Given the description of an element on the screen output the (x, y) to click on. 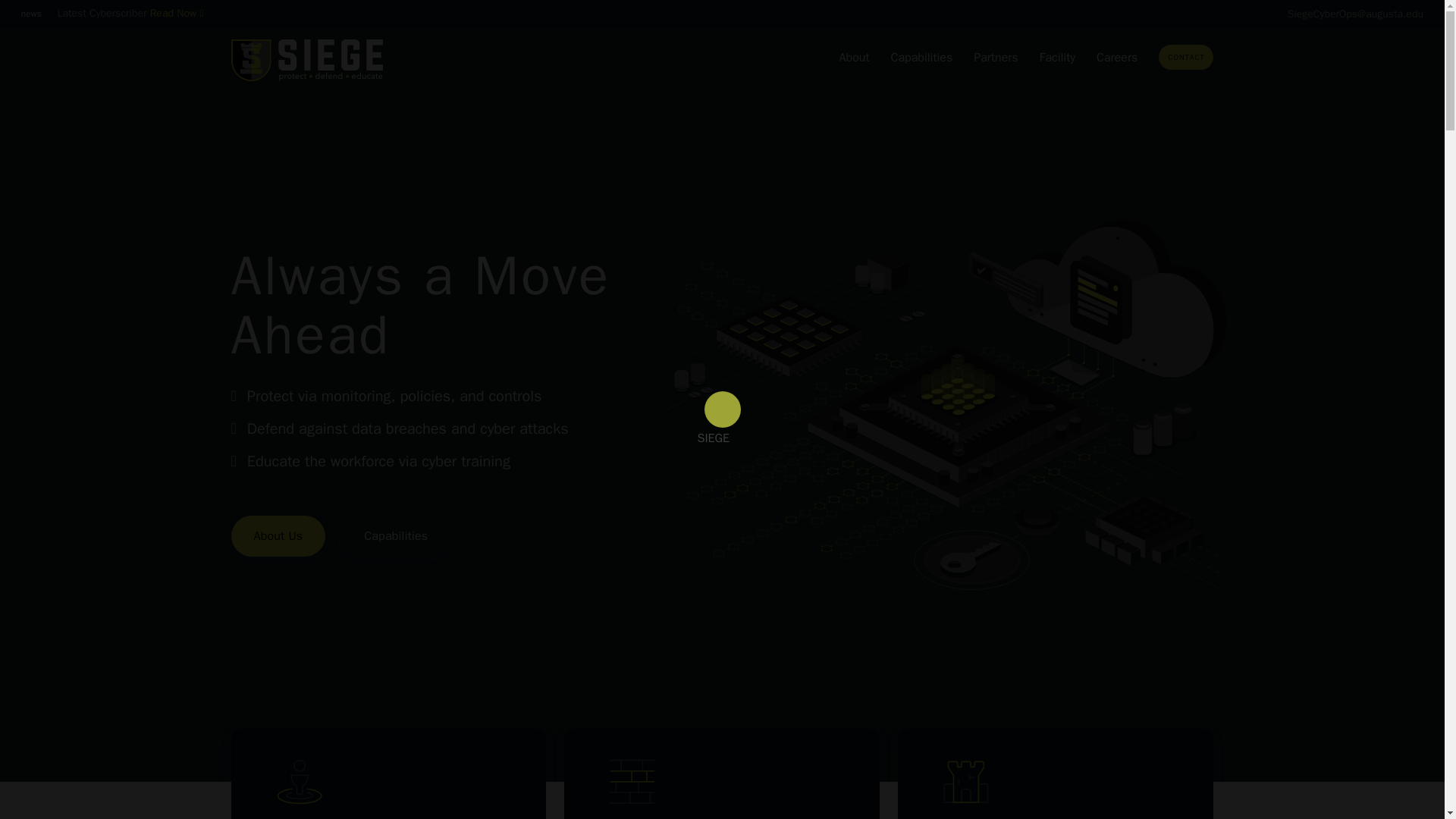
Careers (1118, 57)
About (856, 57)
Capabilities (394, 535)
Read Now (176, 12)
CONTACT (1185, 56)
Capabilities (922, 57)
Partners (997, 57)
About Us (277, 535)
Facility (1058, 57)
